Given the description of an element on the screen output the (x, y) to click on. 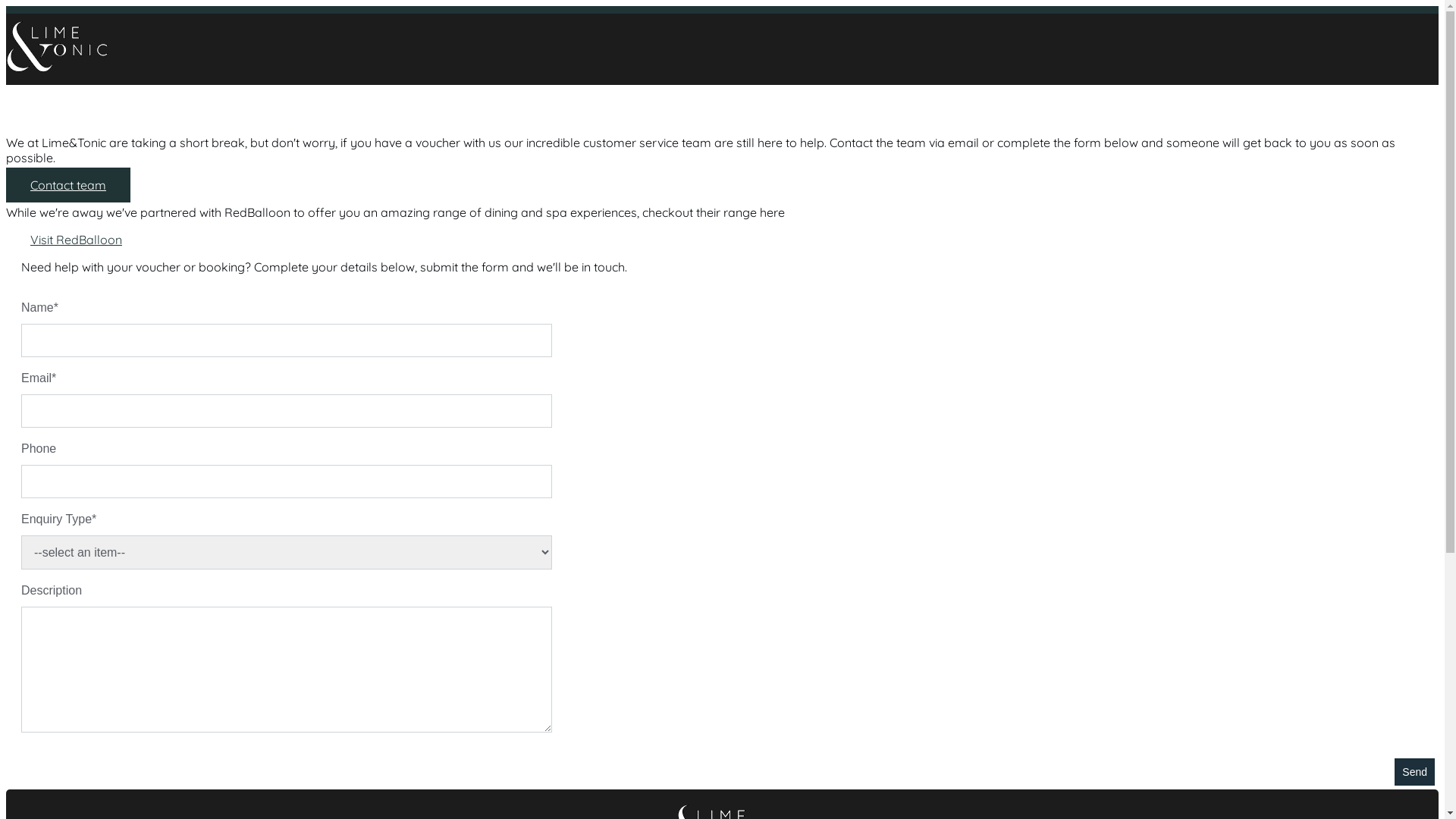
Visit RedBalloon Element type: text (76, 239)
Contact team Element type: text (68, 184)
